Given the description of an element on the screen output the (x, y) to click on. 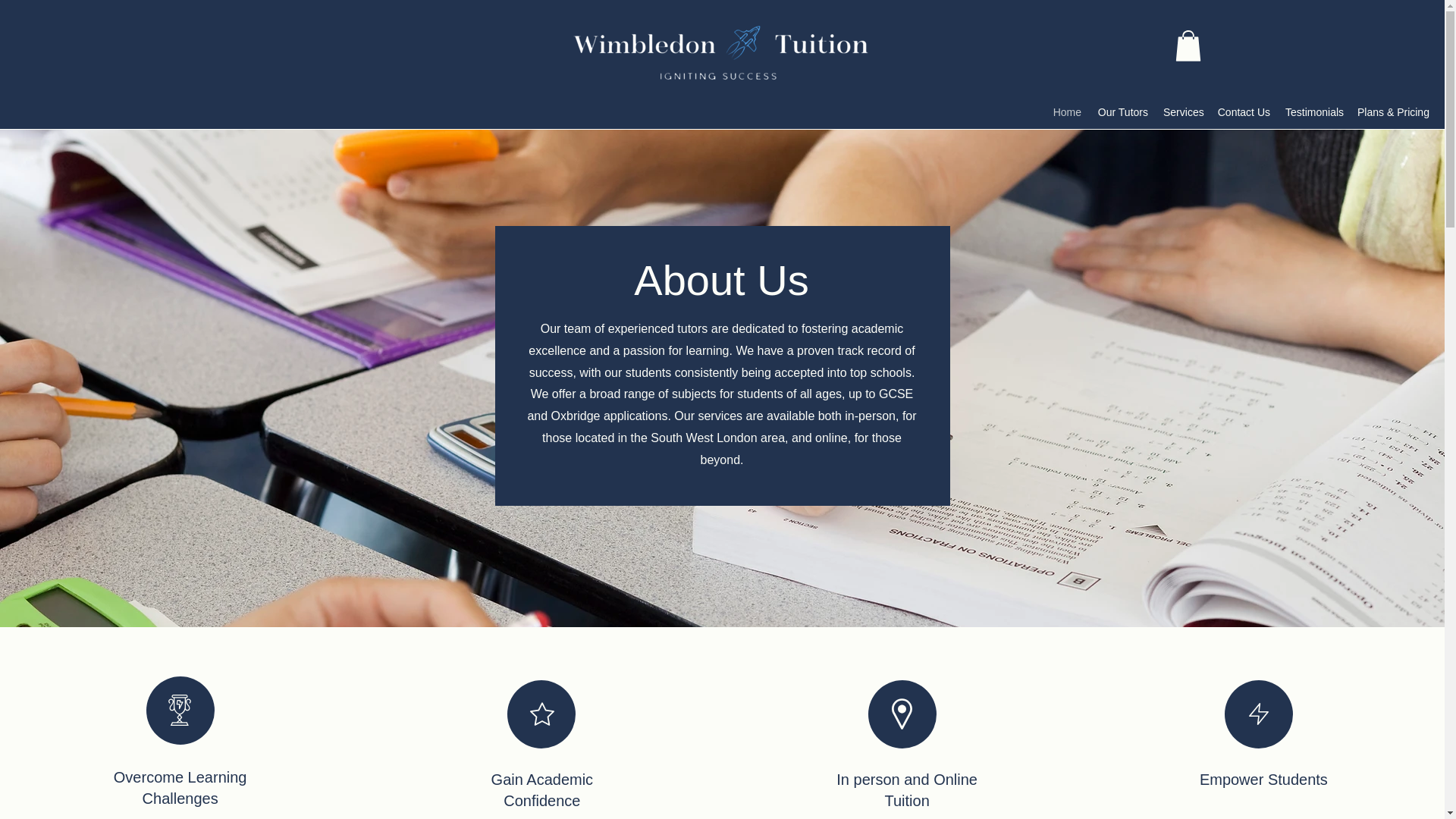
Testimonials (1313, 112)
Our Tutors (1122, 112)
Home (1067, 112)
Services (1182, 112)
Contact Us (1243, 112)
